Given the description of an element on the screen output the (x, y) to click on. 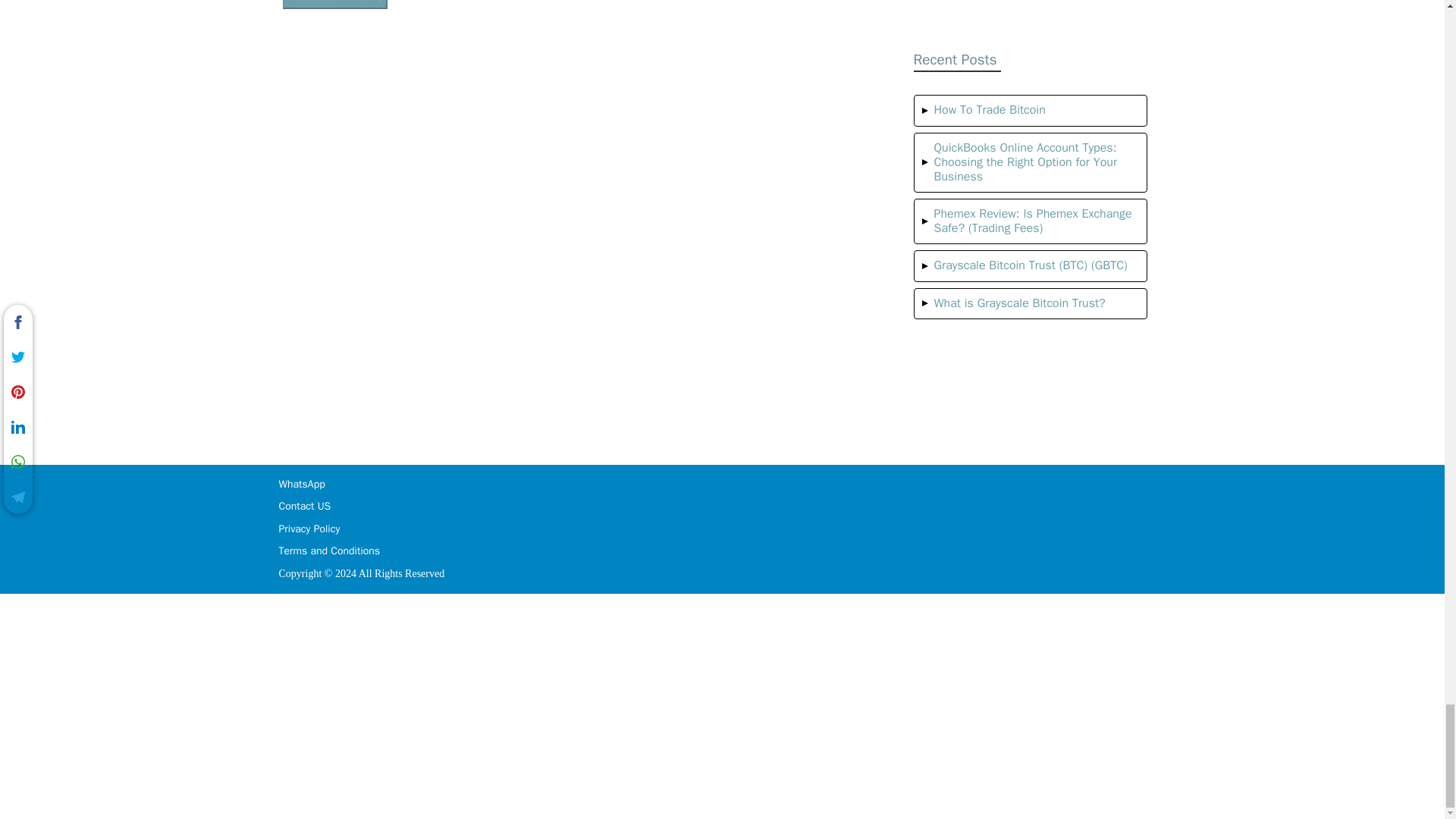
Post Comment (334, 4)
